Given the description of an element on the screen output the (x, y) to click on. 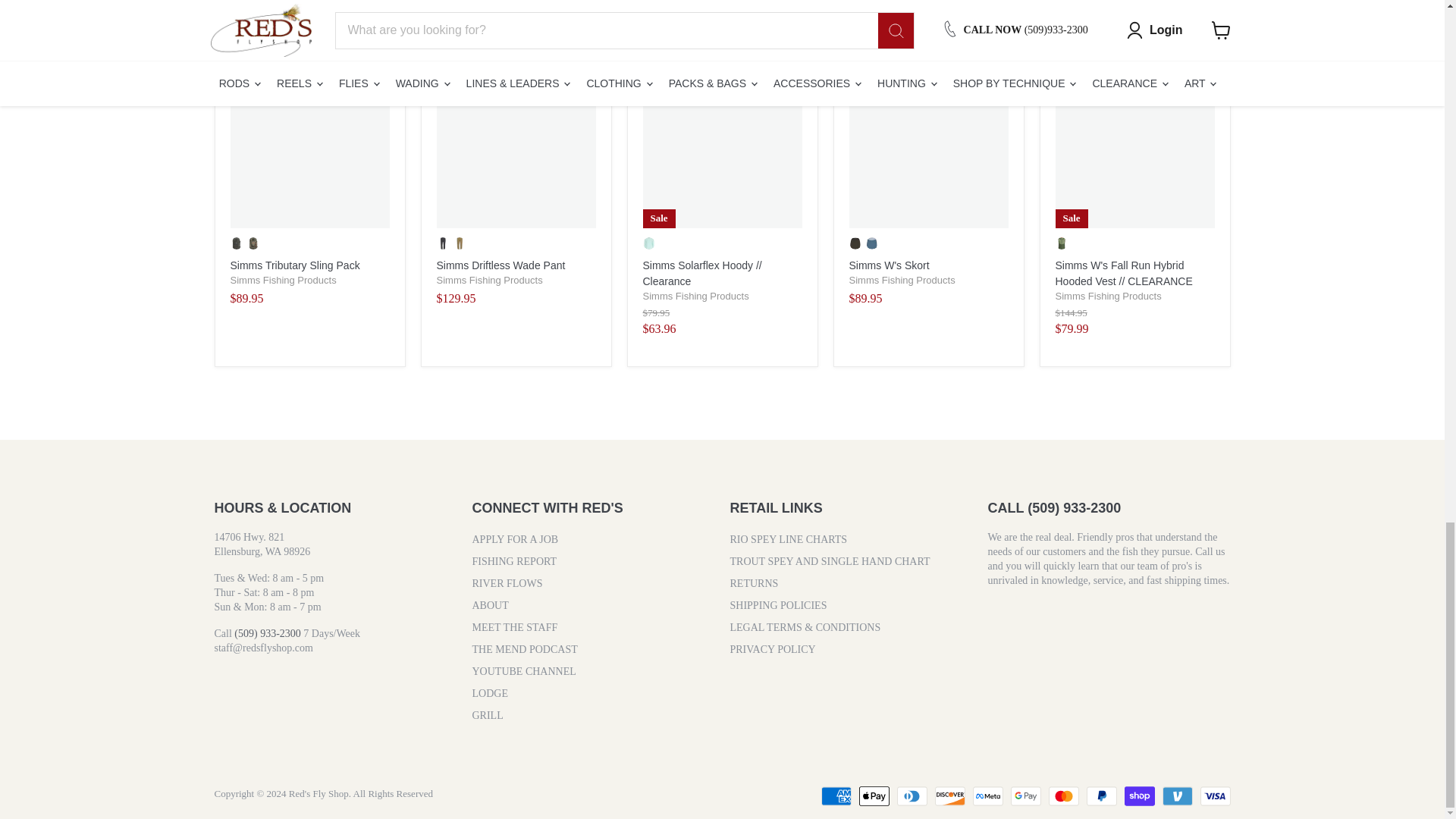
Simms Fishing Products (901, 279)
Simms Fishing Products (489, 279)
Simms Fishing Products (283, 279)
Simms Fishing Products (696, 296)
Simms Fishing Products (1108, 296)
